Given the description of an element on the screen output the (x, y) to click on. 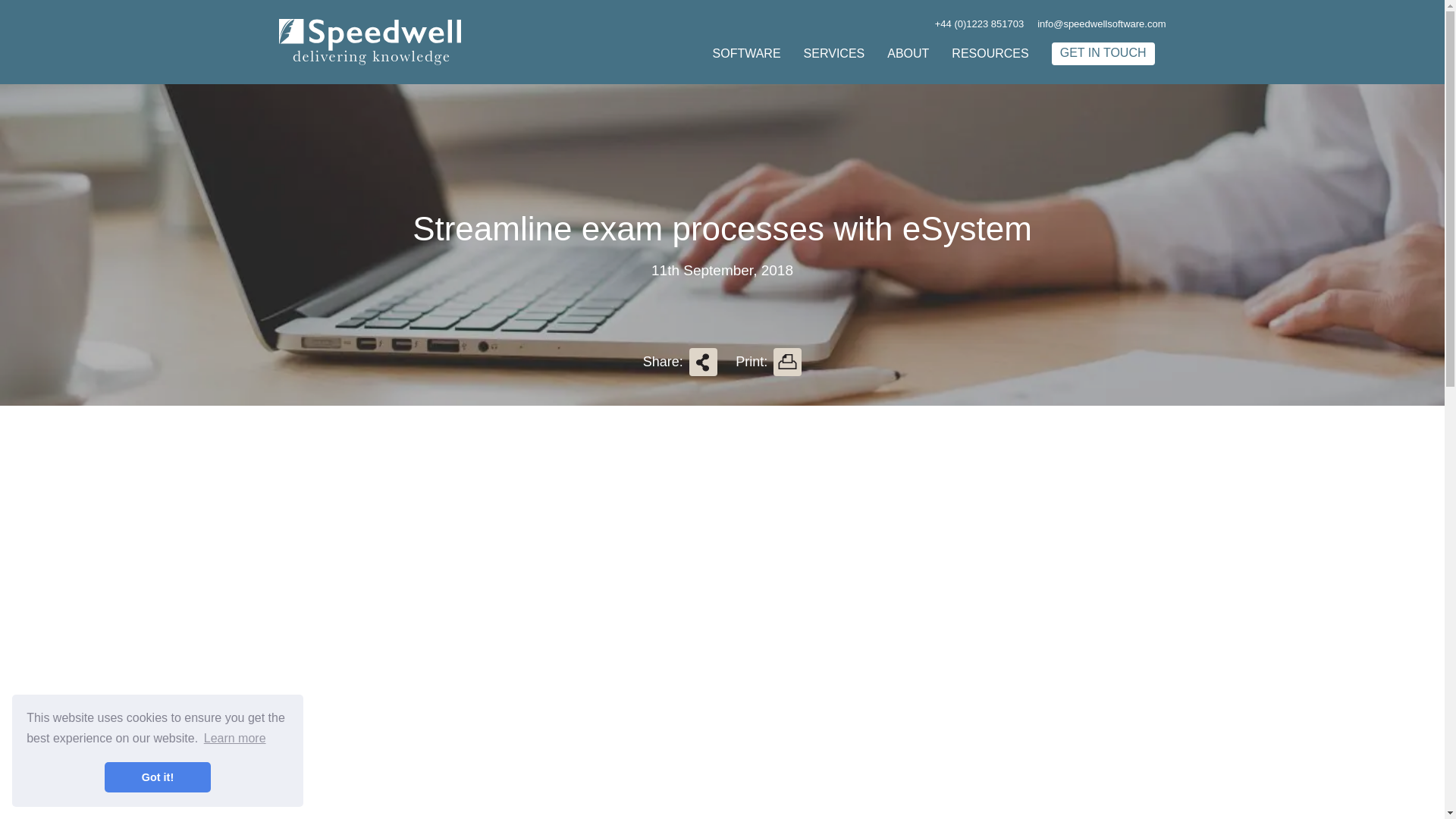
Learn more (234, 738)
ABOUT (907, 52)
RESOURCES (989, 52)
SERVICES (833, 52)
Got it! (157, 777)
GET IN TOUCH (1102, 53)
SOFTWARE (746, 52)
